Given the description of an element on the screen output the (x, y) to click on. 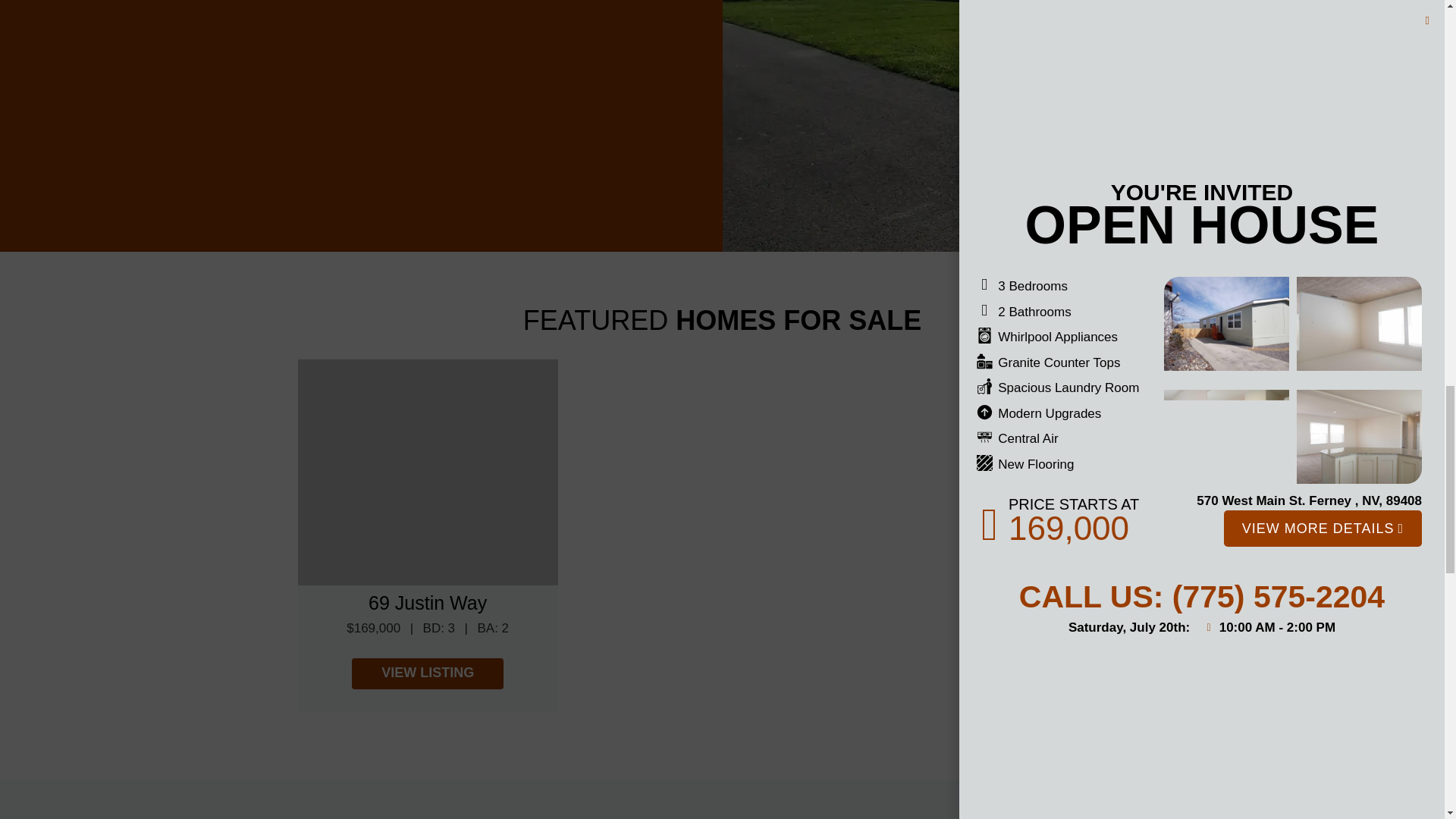
VIEW LISTING (427, 673)
FEATURED HOMES FOR SALE (721, 319)
69 Justin Way (427, 669)
